Given the description of an element on the screen output the (x, y) to click on. 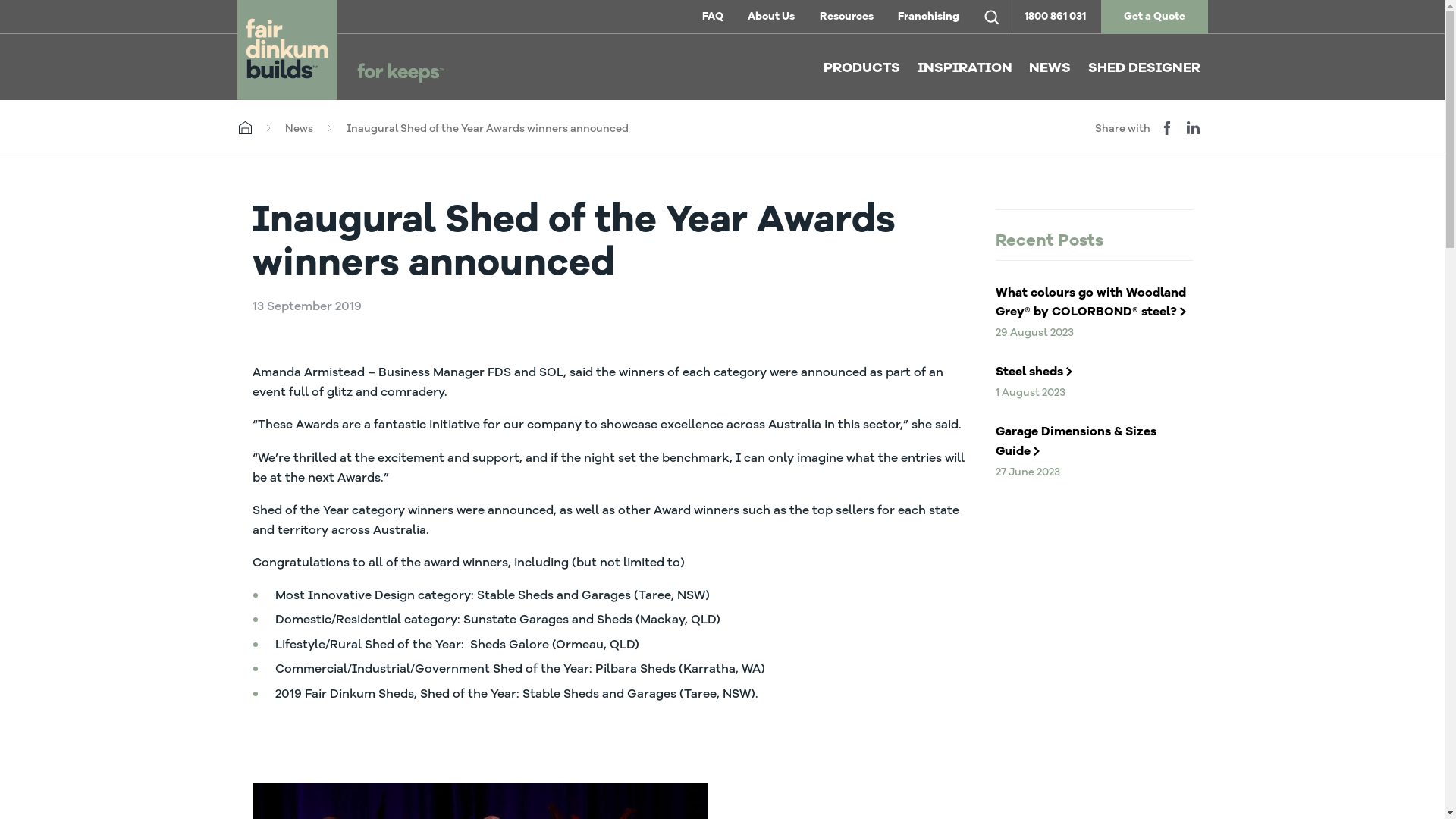
PRODUCTS Element type: text (861, 67)
INSPIRATION Element type: text (964, 67)
FAQ Element type: text (712, 17)
Garage Dimensions & Sizes Guide
27 June 2023 Element type: text (1093, 447)
News Element type: text (298, 128)
Steel sheds
1 August 2023 Element type: text (1093, 377)
Go Element type: text (25, 18)
Recent Posts Element type: text (1093, 242)
NEWS Element type: text (1049, 67)
Resources Element type: text (845, 17)
  Element type: text (991, 17)
Franchising Element type: text (928, 17)
About Us Element type: text (771, 17)
Inaugural Shed of the Year Awards winners announced Element type: text (486, 128)
1800 861 031 Element type: text (1054, 17)
SHED DESIGNER Element type: text (1143, 67)
Get a Quote Element type: text (1154, 17)
